Given the description of an element on the screen output the (x, y) to click on. 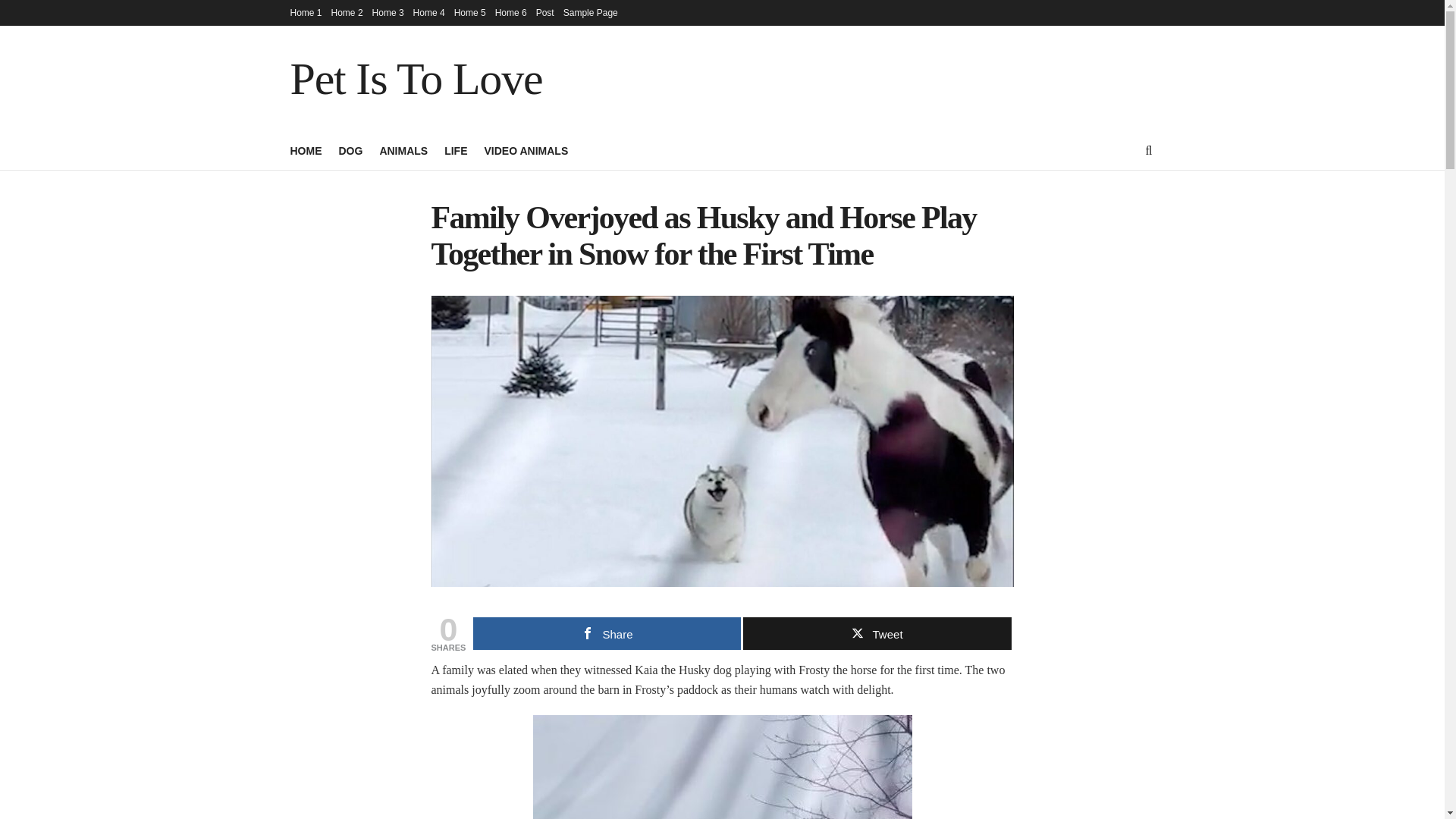
VIDEO ANIMALS (526, 150)
Home 1 (305, 12)
HOME (305, 150)
ANIMALS (403, 150)
Home 2 (346, 12)
Home 3 (388, 12)
Pet Is To Love (415, 78)
DOG (349, 150)
Home 4 (429, 12)
Home 6 (511, 12)
